Given the description of an element on the screen output the (x, y) to click on. 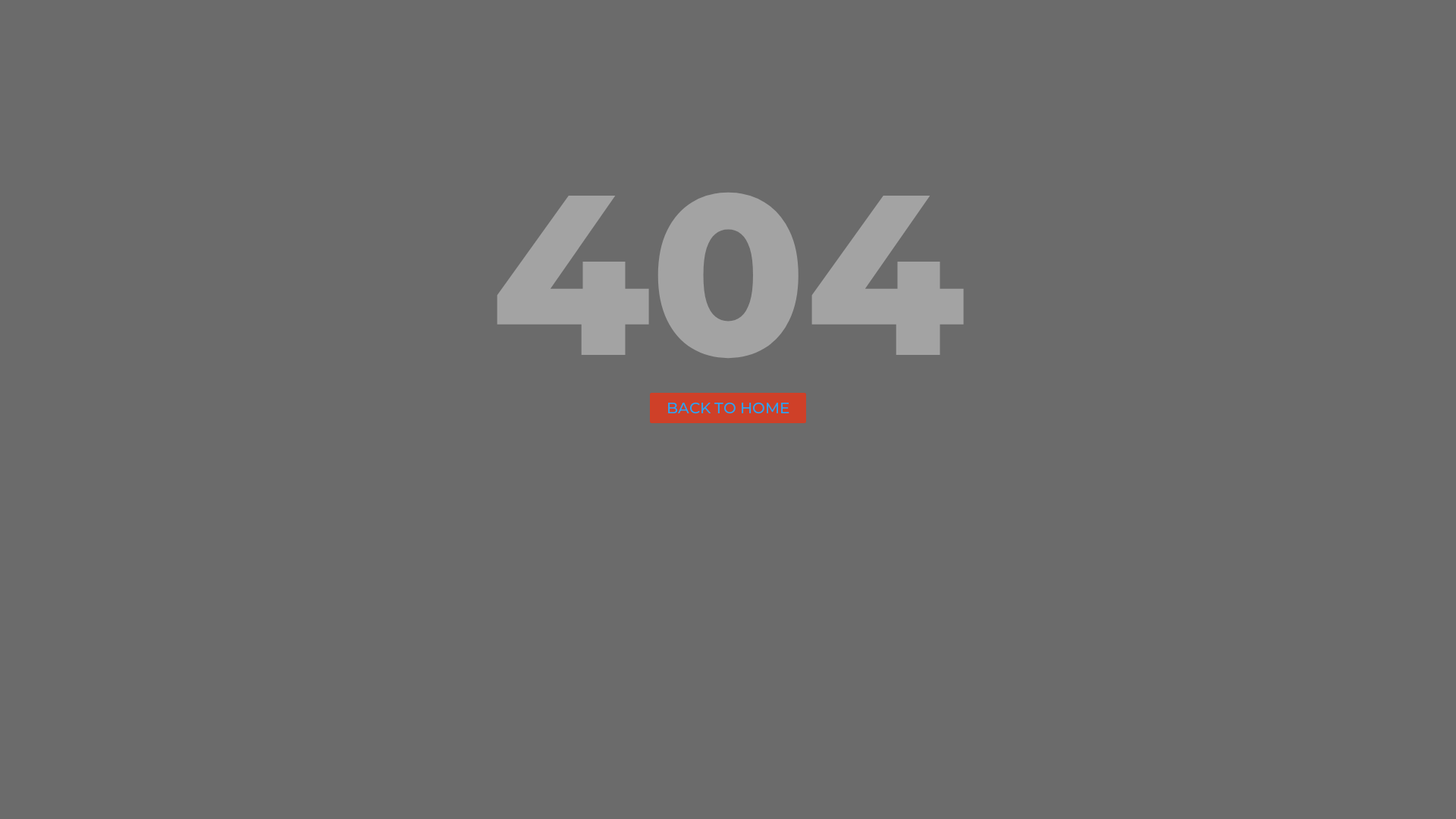
BACK TO HOME Element type: text (727, 407)
